Given the description of an element on the screen output the (x, y) to click on. 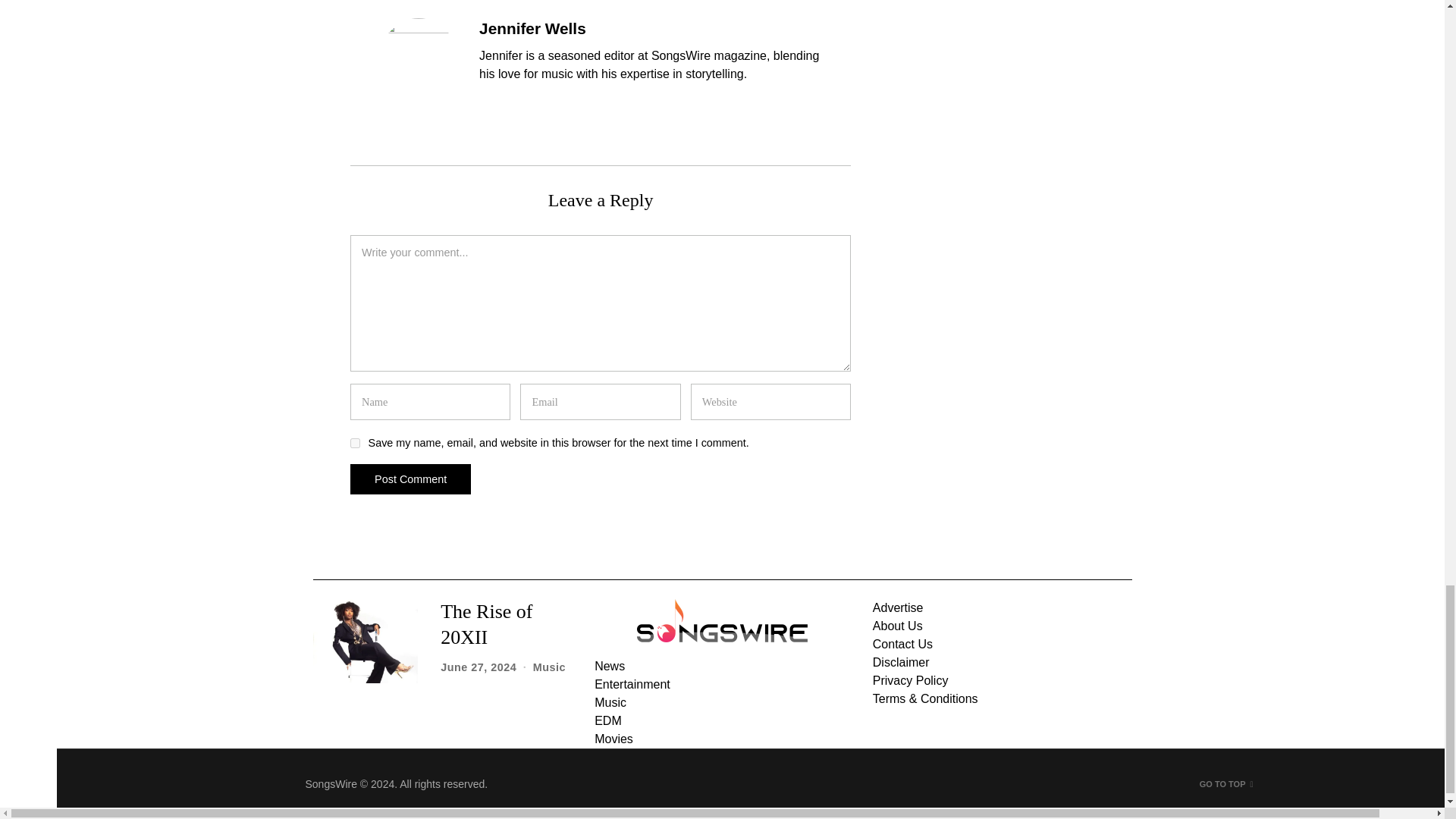
Post Comment (410, 479)
yes (354, 442)
Jennifer Wells (532, 27)
Post Comment (410, 479)
